Given the description of an element on the screen output the (x, y) to click on. 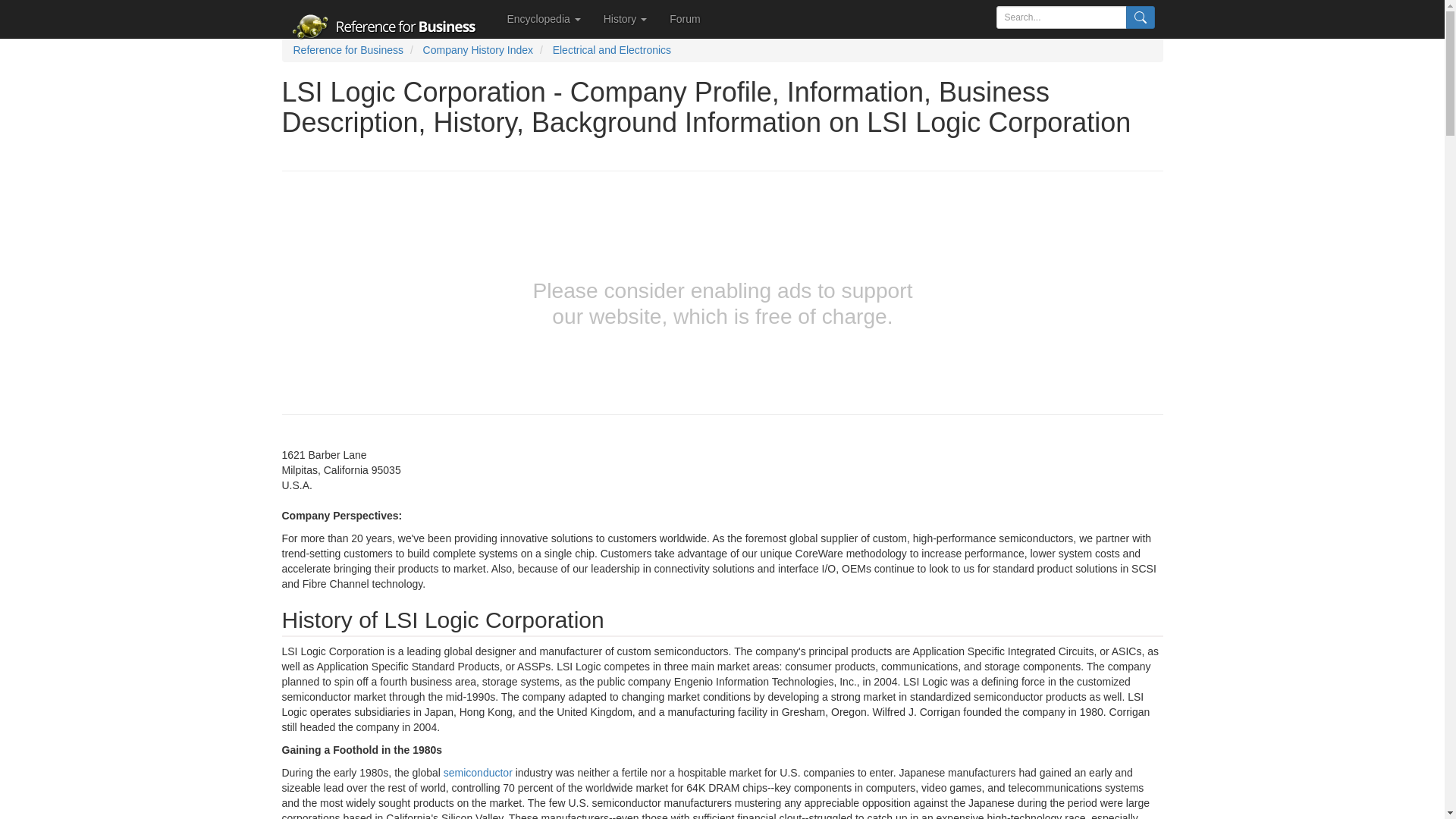
Company History Index (478, 50)
View 'semiconductor' definition from Wikipedia (478, 772)
semiconductor (478, 772)
Encyclopedia (544, 18)
Advertisement (138, 306)
Forum (684, 18)
Reference for Business (347, 50)
History (625, 18)
Electrical and Electronics (612, 50)
